Given the description of an element on the screen output the (x, y) to click on. 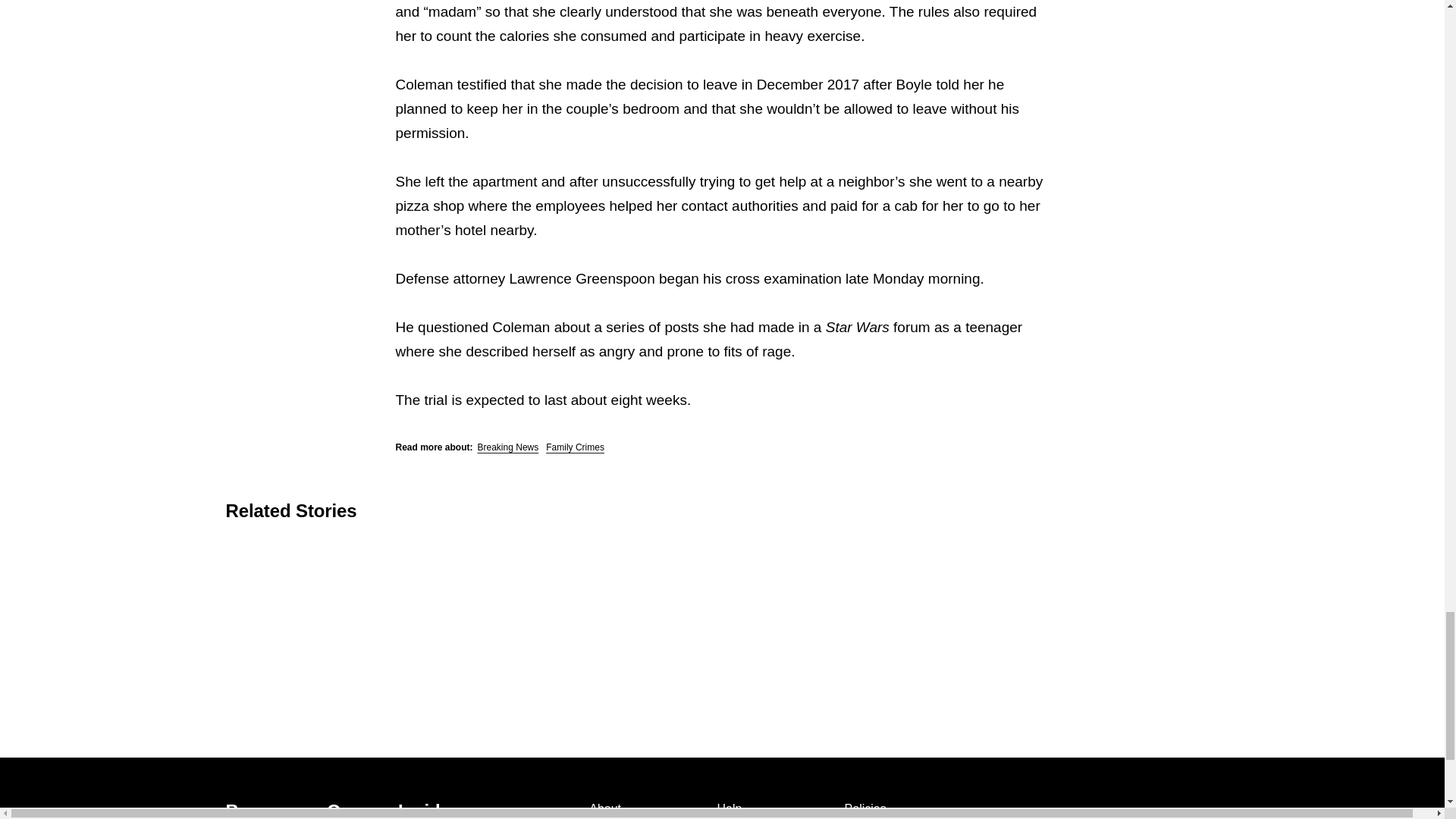
Family Crimes (575, 447)
Breaking News (507, 447)
